Given the description of an element on the screen output the (x, y) to click on. 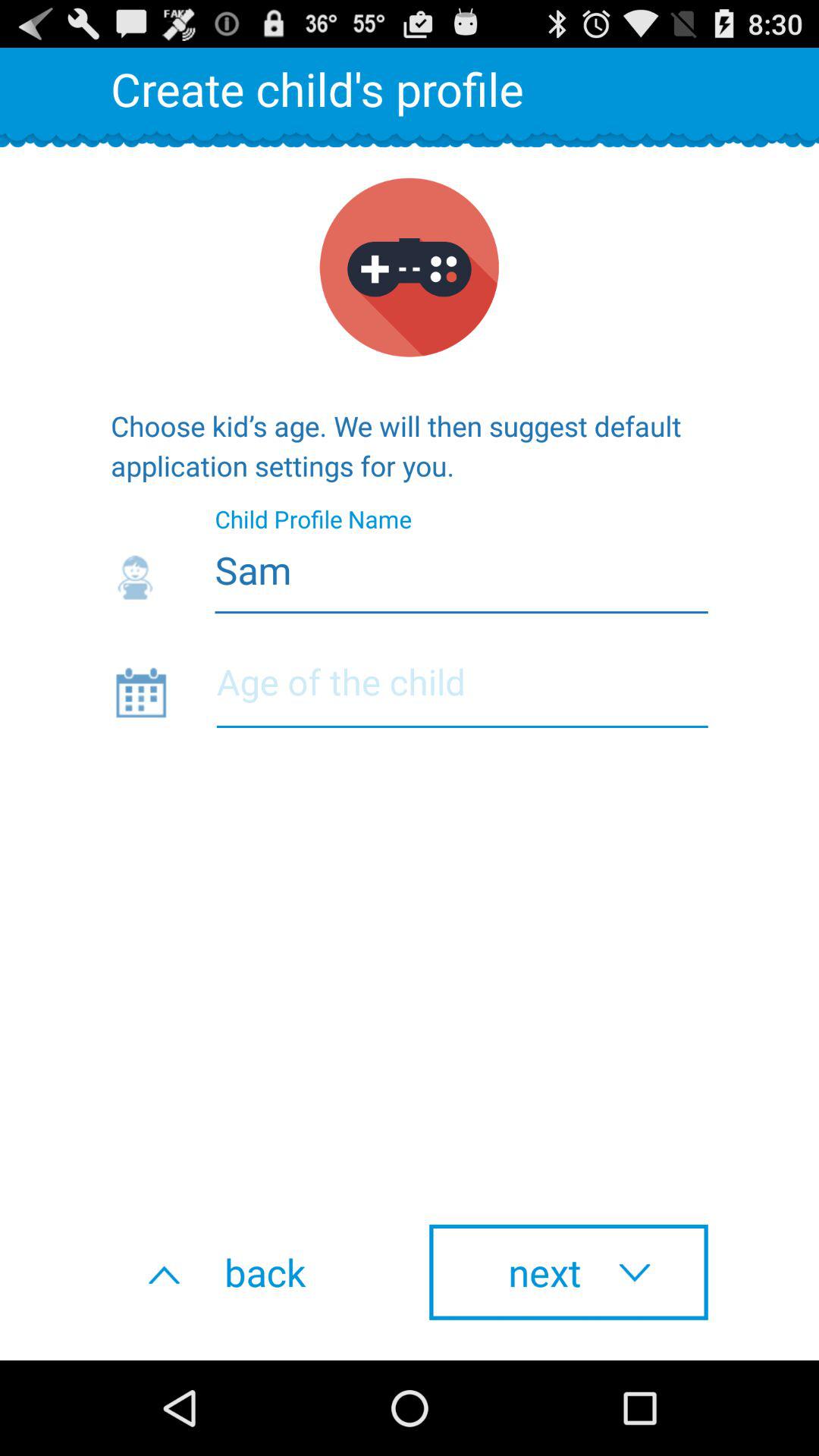
click the icon below choose kid s icon (409, 565)
